Given the description of an element on the screen output the (x, y) to click on. 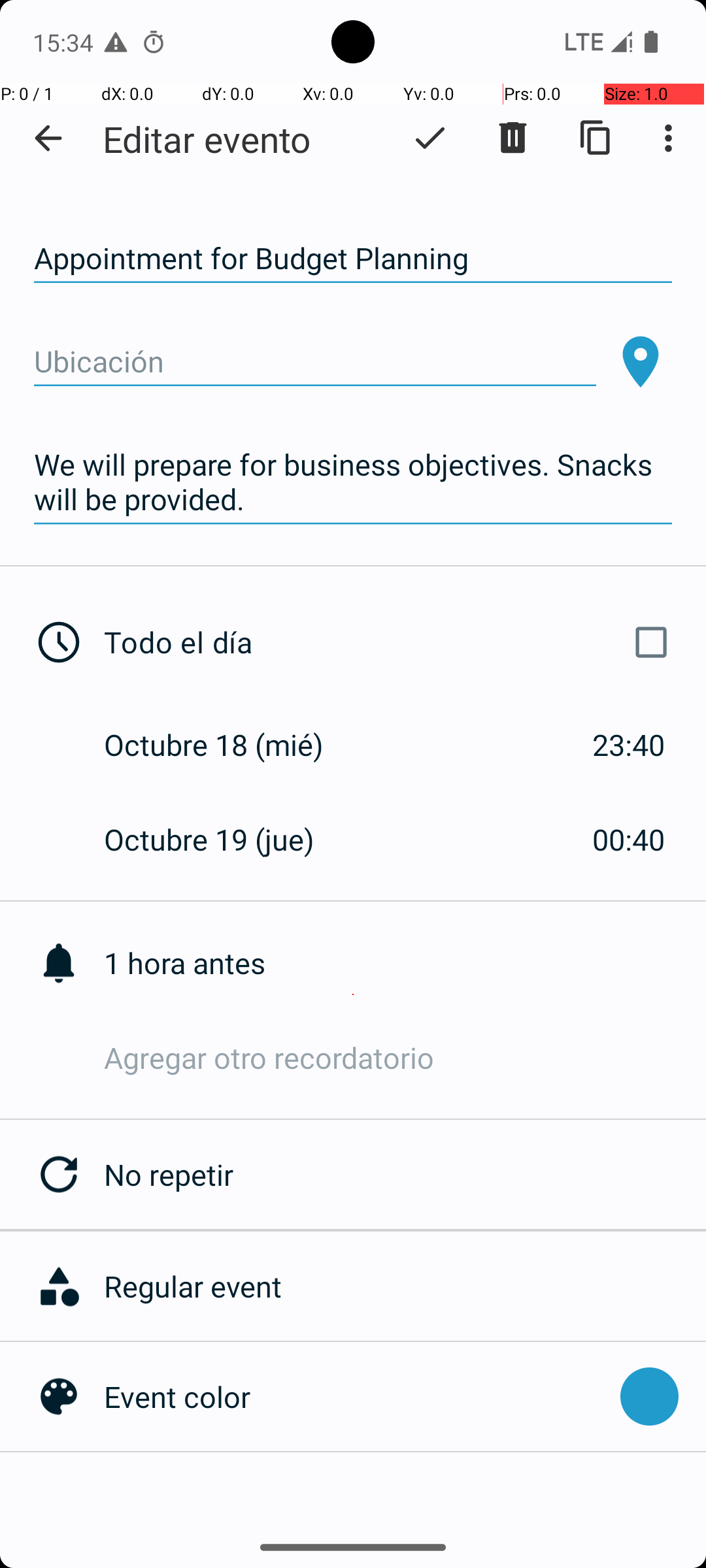
Editar evento Element type: android.widget.TextView (206, 138)
Guardar Element type: android.widget.Button (429, 137)
Eliminar Element type: android.widget.Button (512, 137)
Duplicar un evento Element type: android.widget.Button (595, 137)
Appointment for Budget Planning Element type: android.widget.EditText (352, 258)
Ubicación Element type: android.widget.EditText (314, 361)
We will prepare for business objectives. Snacks will be provided. Element type: android.widget.EditText (352, 482)
Octubre 18 (mié) Element type: android.widget.TextView (227, 744)
23:40 Element type: android.widget.TextView (628, 744)
Octubre 19 (jue) Element type: android.widget.TextView (222, 838)
00:40 Element type: android.widget.TextView (628, 838)
1 hora antes Element type: android.widget.TextView (404, 962)
Agregar otro recordatorio Element type: android.widget.TextView (404, 1057)
No repetir Element type: android.widget.TextView (404, 1174)
Todo el día Element type: android.widget.CheckBox (390, 642)
